Given the description of an element on the screen output the (x, y) to click on. 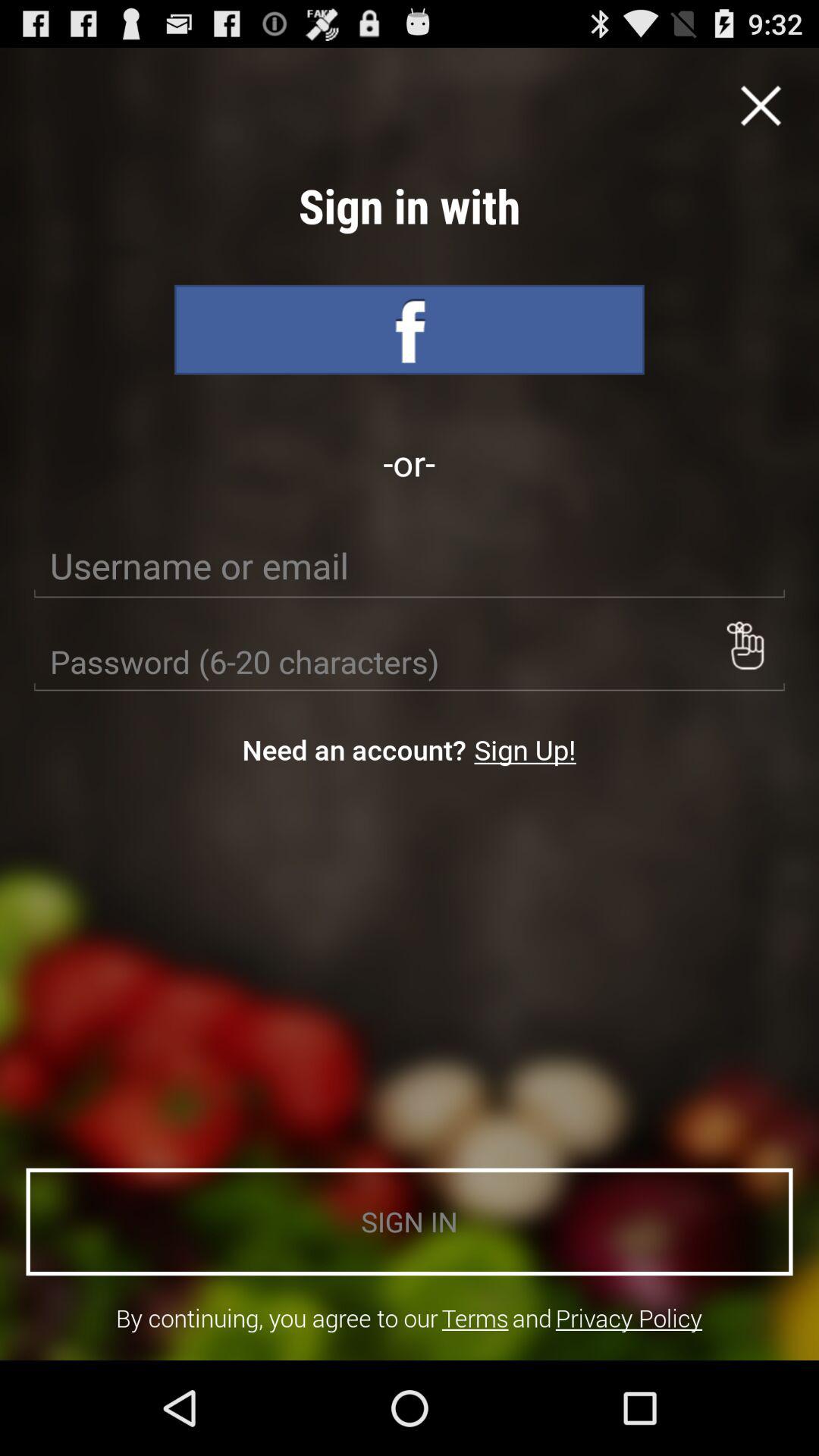
swipe to the terms (474, 1317)
